Given the description of an element on the screen output the (x, y) to click on. 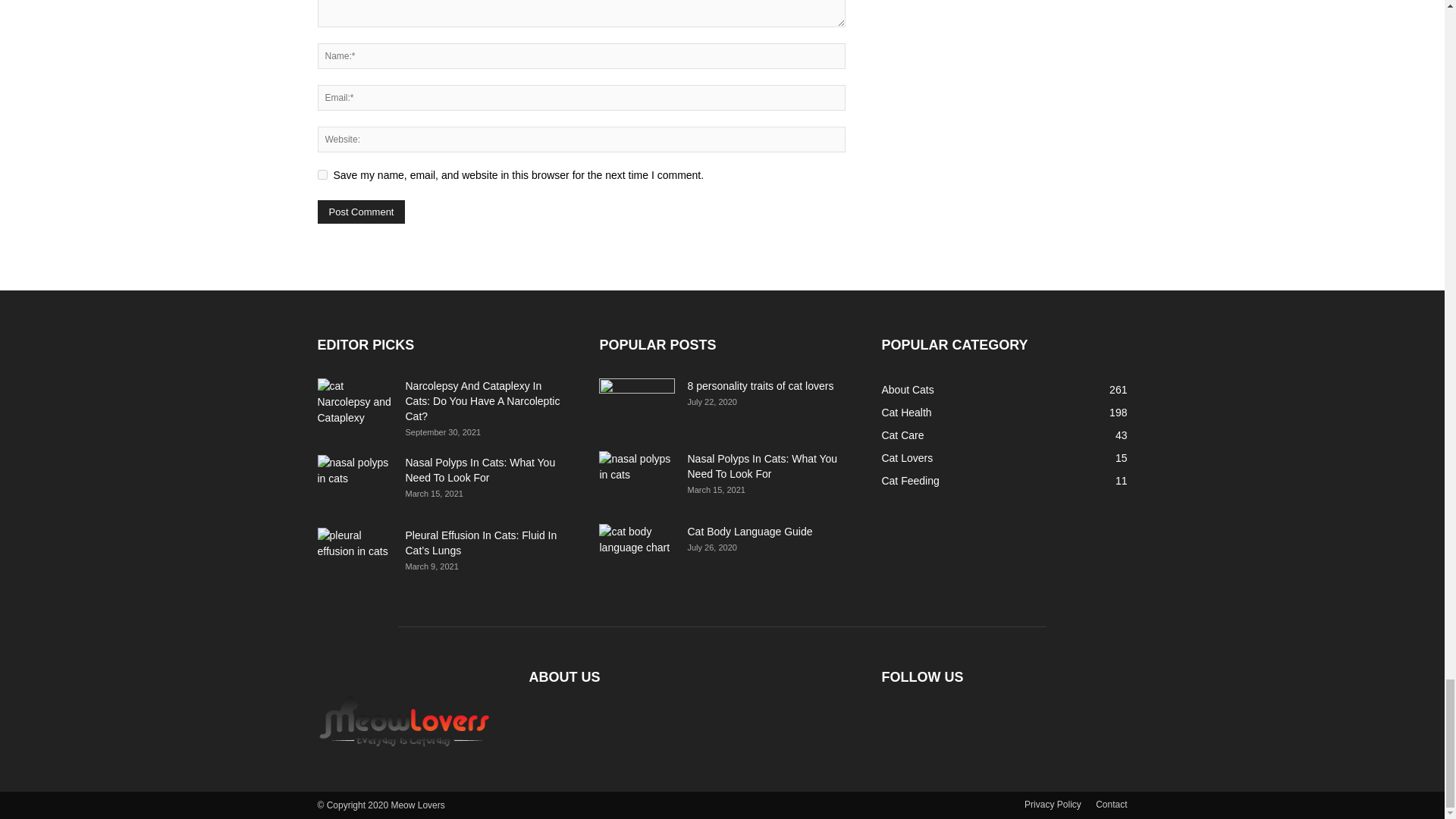
Post Comment (360, 211)
yes (321, 174)
